Given the description of an element on the screen output the (x, y) to click on. 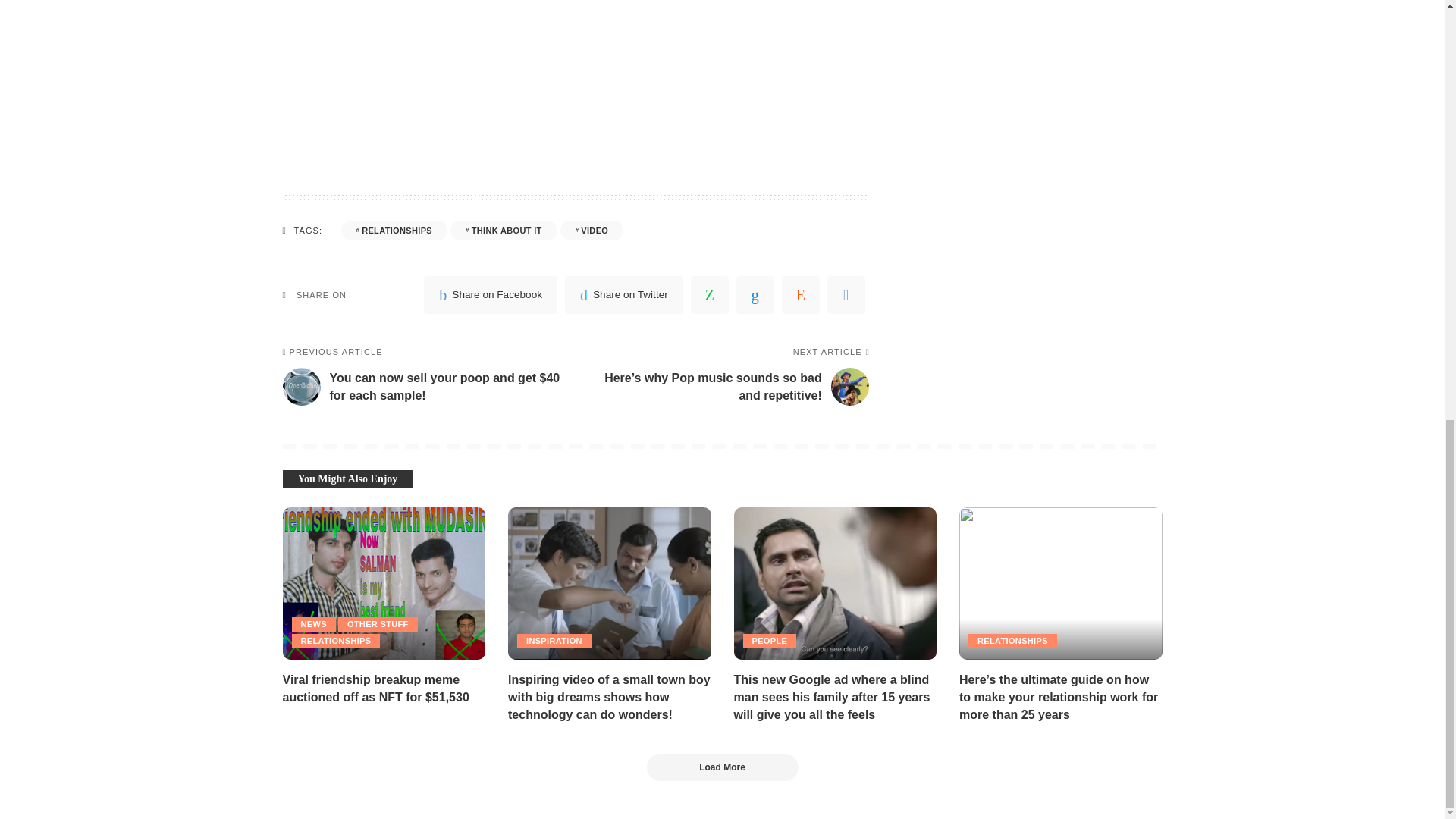
Relationships (394, 230)
Facebook (490, 294)
STRANGERS IN THE NIGHT (574, 54)
Video (592, 230)
Think About It (503, 230)
